Given the description of an element on the screen output the (x, y) to click on. 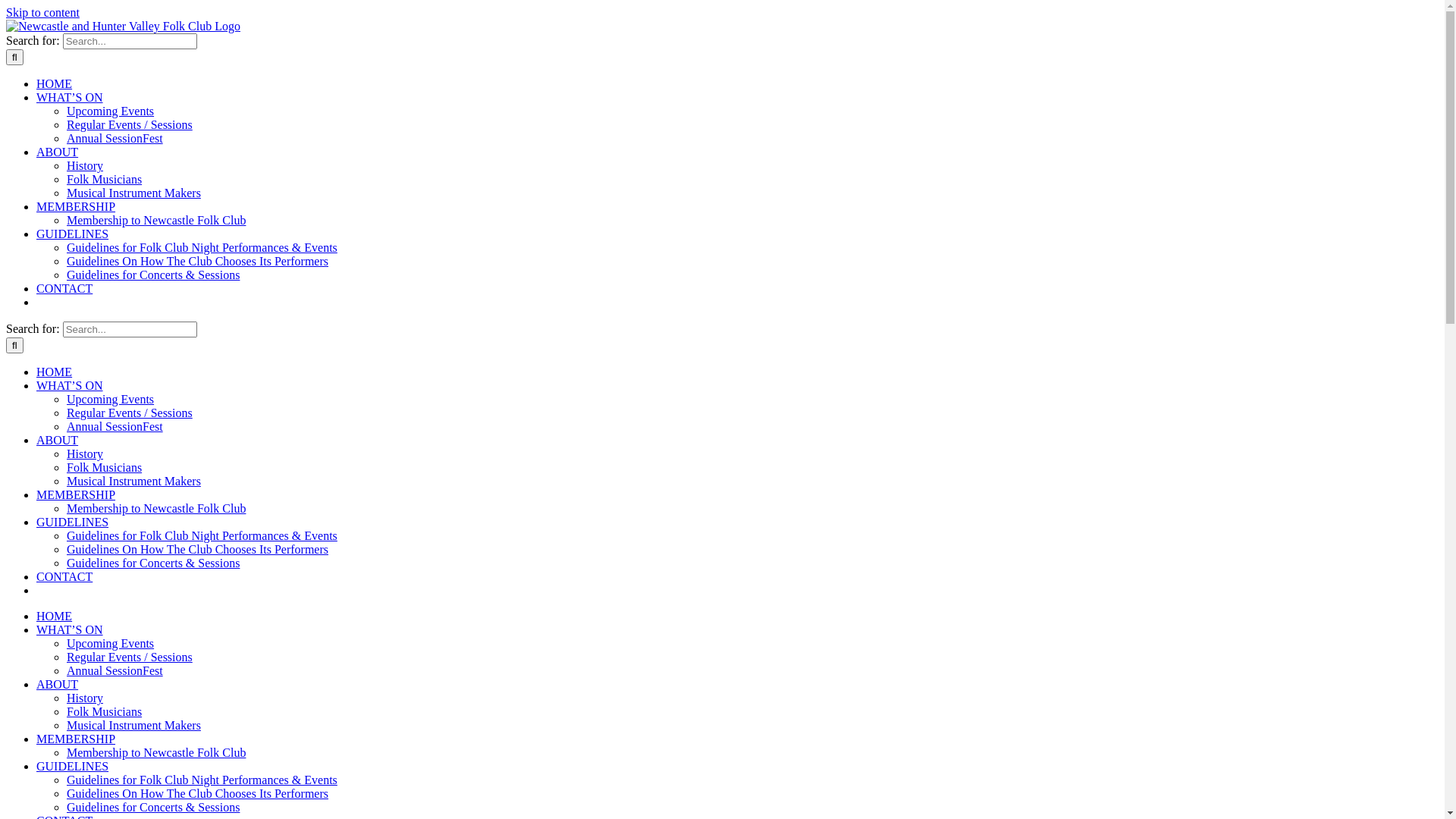
Regular Events / Sessions Element type: text (129, 124)
History Element type: text (84, 453)
Guidelines On How The Club Chooses Its Performers Element type: text (197, 793)
Guidelines On How The Club Chooses Its Performers Element type: text (197, 548)
CONTACT Element type: text (64, 576)
MEMBERSHIP Element type: text (75, 494)
History Element type: text (84, 697)
Musical Instrument Makers Element type: text (133, 724)
Folk Musicians Element type: text (103, 711)
Membership to Newcastle Folk Club Element type: text (155, 752)
Membership to Newcastle Folk Club Element type: text (155, 219)
HOME Element type: text (54, 371)
Annual SessionFest Element type: text (114, 137)
Guidelines for Concerts & Sessions Element type: text (152, 274)
ABOUT Element type: text (57, 683)
Upcoming Events Element type: text (109, 643)
Regular Events / Sessions Element type: text (129, 656)
GUIDELINES Element type: text (72, 233)
MEMBERSHIP Element type: text (75, 738)
GUIDELINES Element type: text (72, 765)
Guidelines for Concerts & Sessions Element type: text (152, 806)
Guidelines for Folk Club Night Performances & Events Element type: text (201, 535)
Annual SessionFest Element type: text (114, 670)
Membership to Newcastle Folk Club Element type: text (155, 508)
Upcoming Events Element type: text (109, 398)
MEMBERSHIP Element type: text (75, 206)
Musical Instrument Makers Element type: text (133, 480)
CONTACT Element type: text (64, 288)
HOME Element type: text (54, 83)
Musical Instrument Makers Element type: text (133, 192)
GUIDELINES Element type: text (72, 521)
ABOUT Element type: text (57, 151)
Guidelines for Folk Club Night Performances & Events Element type: text (201, 247)
Folk Musicians Element type: text (103, 467)
Upcoming Events Element type: text (109, 110)
Guidelines On How The Club Chooses Its Performers Element type: text (197, 260)
ABOUT Element type: text (57, 439)
Guidelines for Concerts & Sessions Element type: text (152, 562)
HOME Element type: text (54, 615)
Skip to content Element type: text (42, 12)
Guidelines for Folk Club Night Performances & Events Element type: text (201, 779)
Regular Events / Sessions Element type: text (129, 412)
History Element type: text (84, 165)
Folk Musicians Element type: text (103, 178)
Annual SessionFest Element type: text (114, 426)
